Given the description of an element on the screen output the (x, y) to click on. 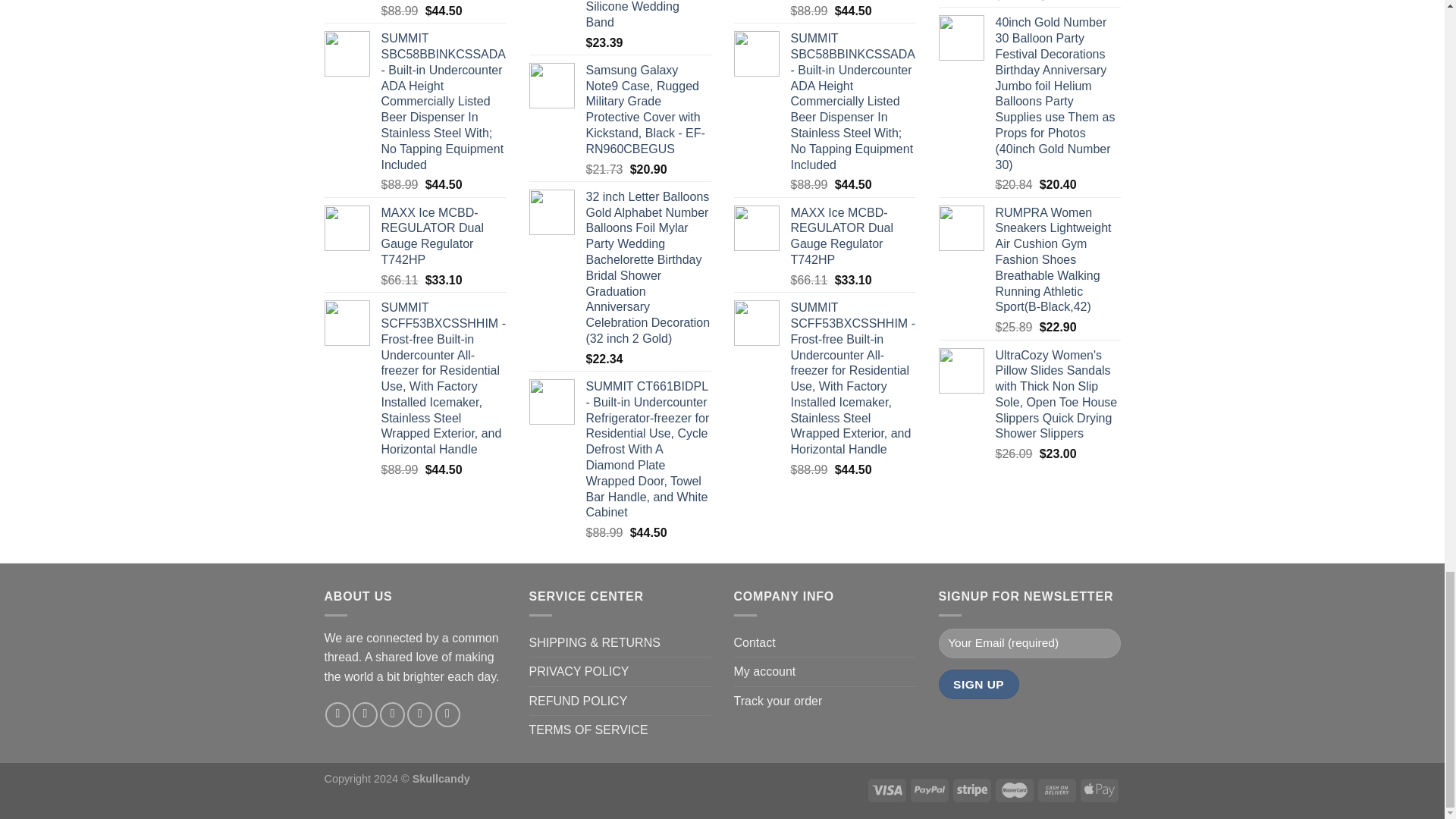
Follow on Instagram (364, 714)
Follow on Facebook (337, 714)
Sign Up (979, 684)
